Given the description of an element on the screen output the (x, y) to click on. 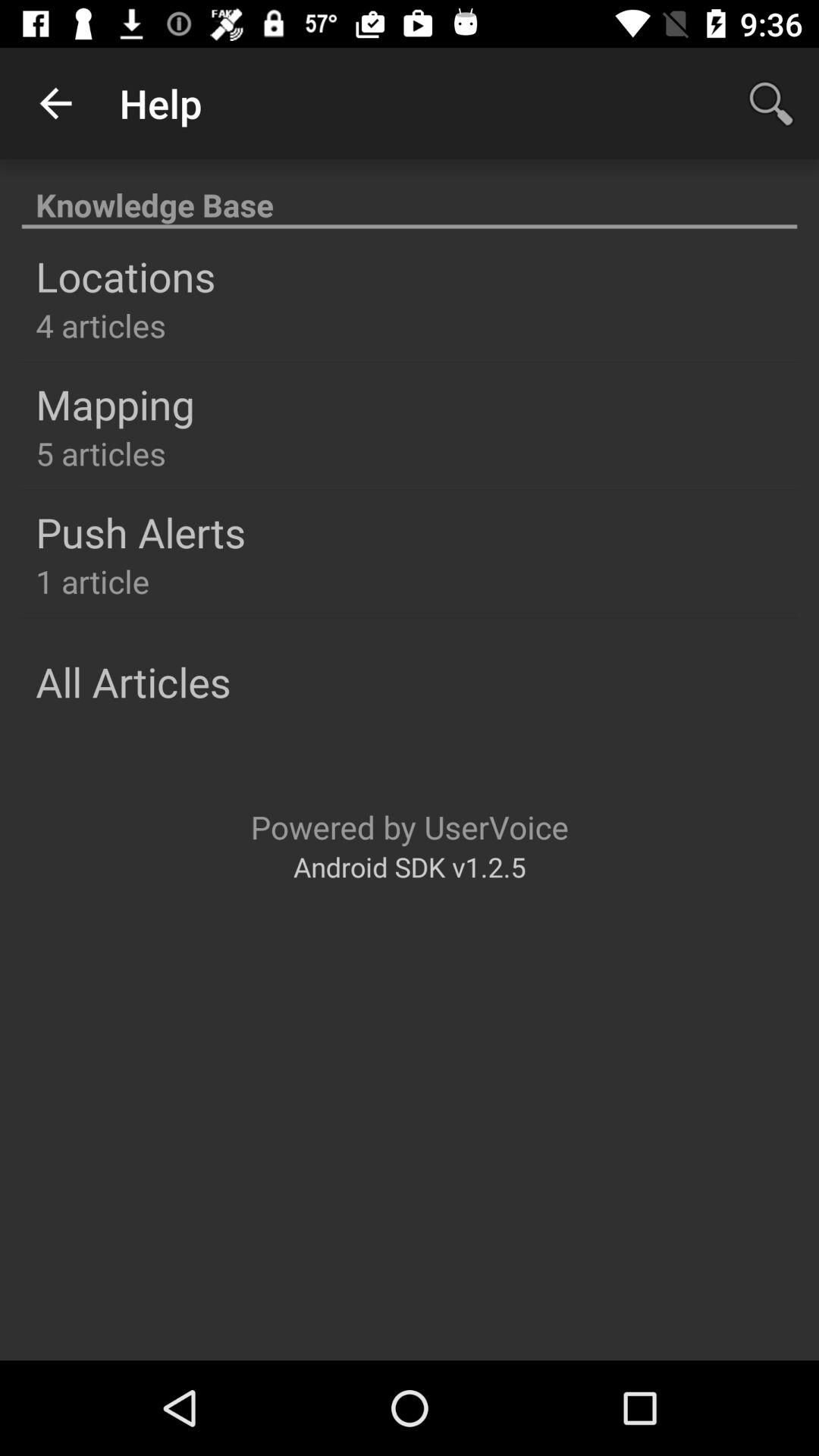
swipe to all articles (132, 681)
